Given the description of an element on the screen output the (x, y) to click on. 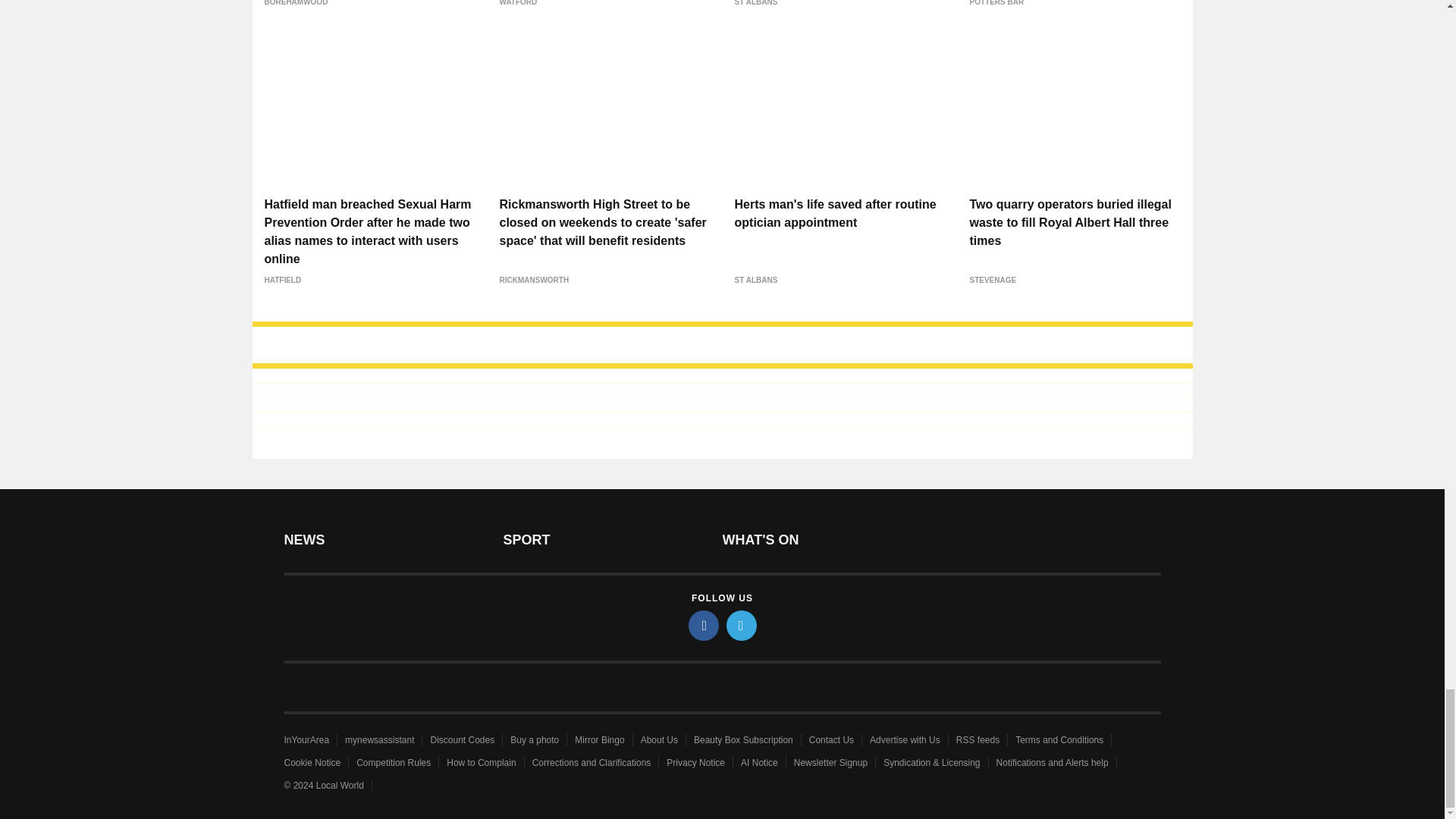
twitter (741, 625)
facebook (703, 625)
